Given the description of an element on the screen output the (x, y) to click on. 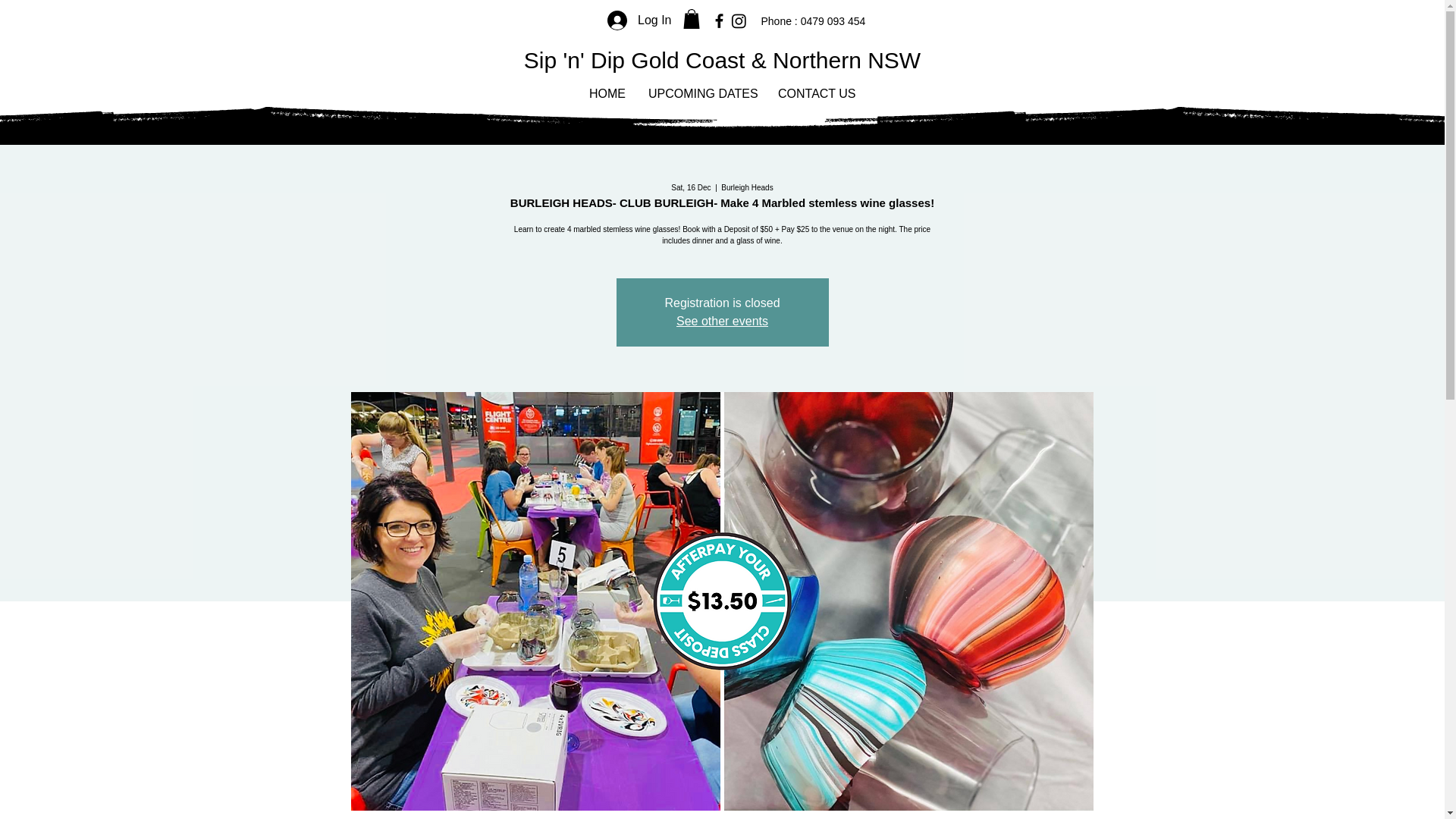
See other events (722, 320)
UPCOMING DATES (702, 93)
CONTACT US (816, 93)
 0479 093 454 (831, 21)
Log In (638, 20)
HOME (607, 93)
